Given the description of an element on the screen output the (x, y) to click on. 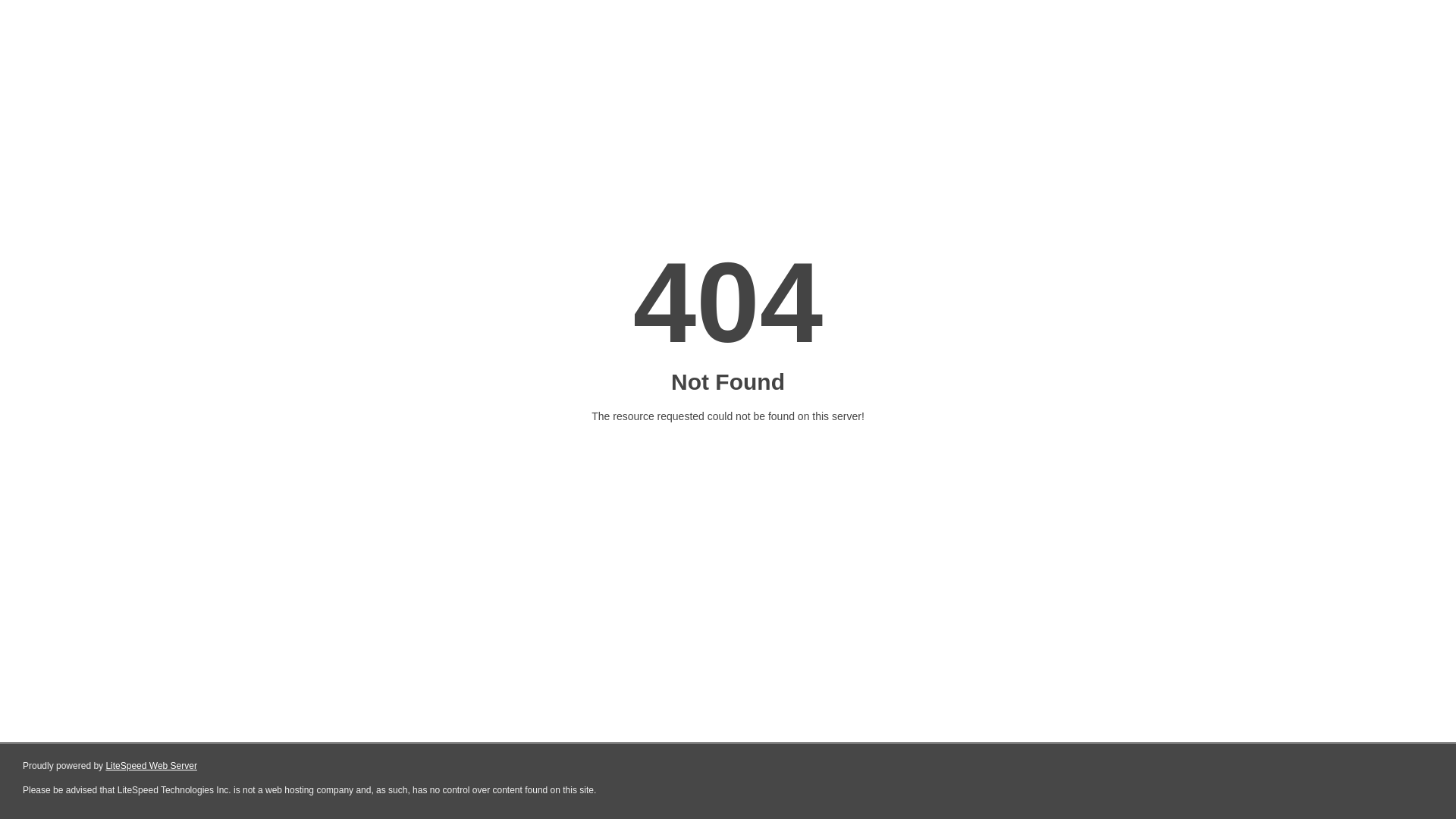
LiteSpeed Web Server (150, 765)
